Given the description of an element on the screen output the (x, y) to click on. 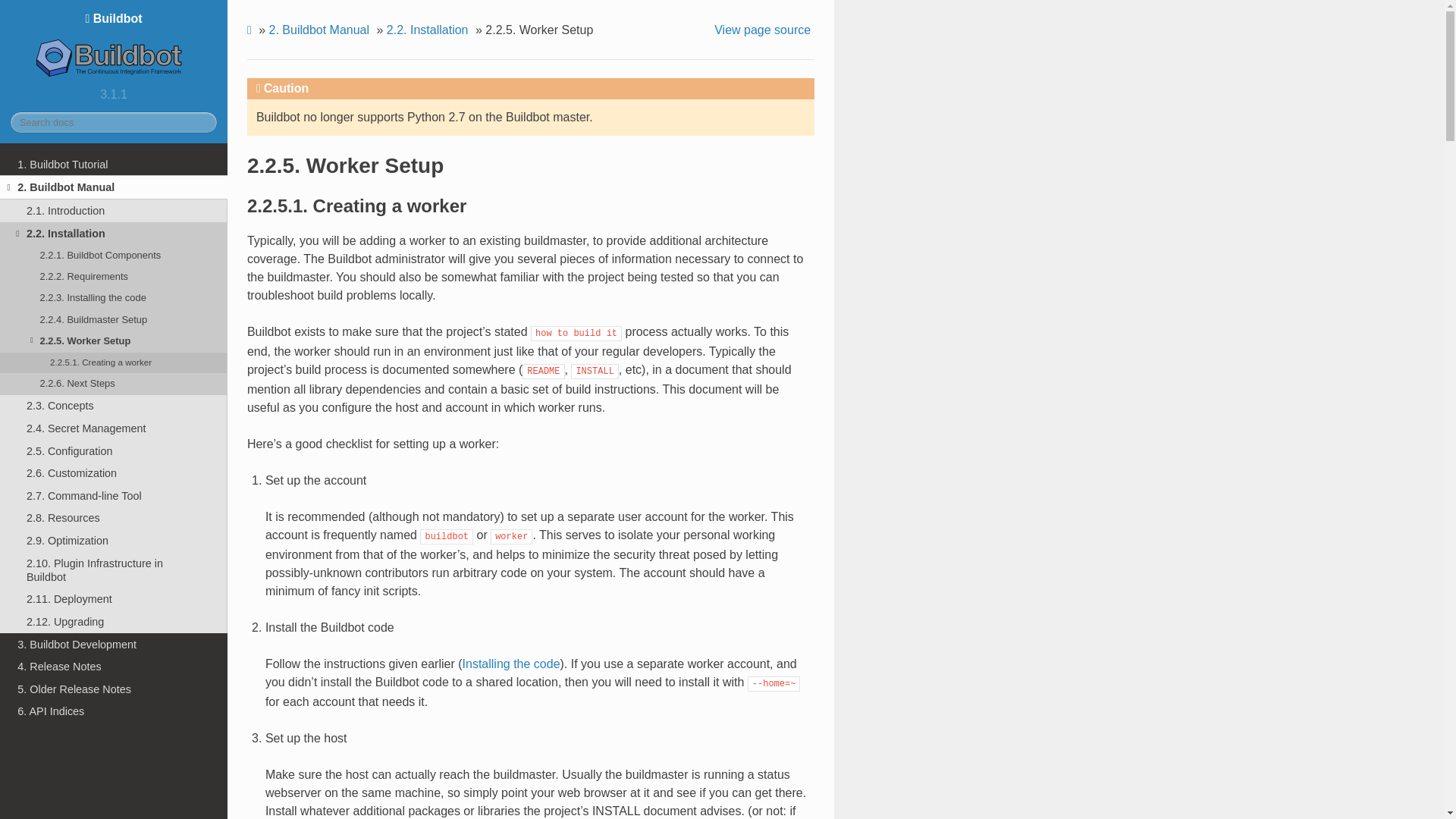
2.2. Installation (429, 29)
View page source (763, 29)
6. API Indices (113, 712)
2.2.2. Requirements (113, 276)
2.3. Concepts (113, 405)
Buildbot (113, 46)
2.2.5. Worker Setup (113, 341)
Installing the code (511, 663)
2.8. Resources (113, 517)
2. Buildbot Manual (113, 187)
